Given the description of an element on the screen output the (x, y) to click on. 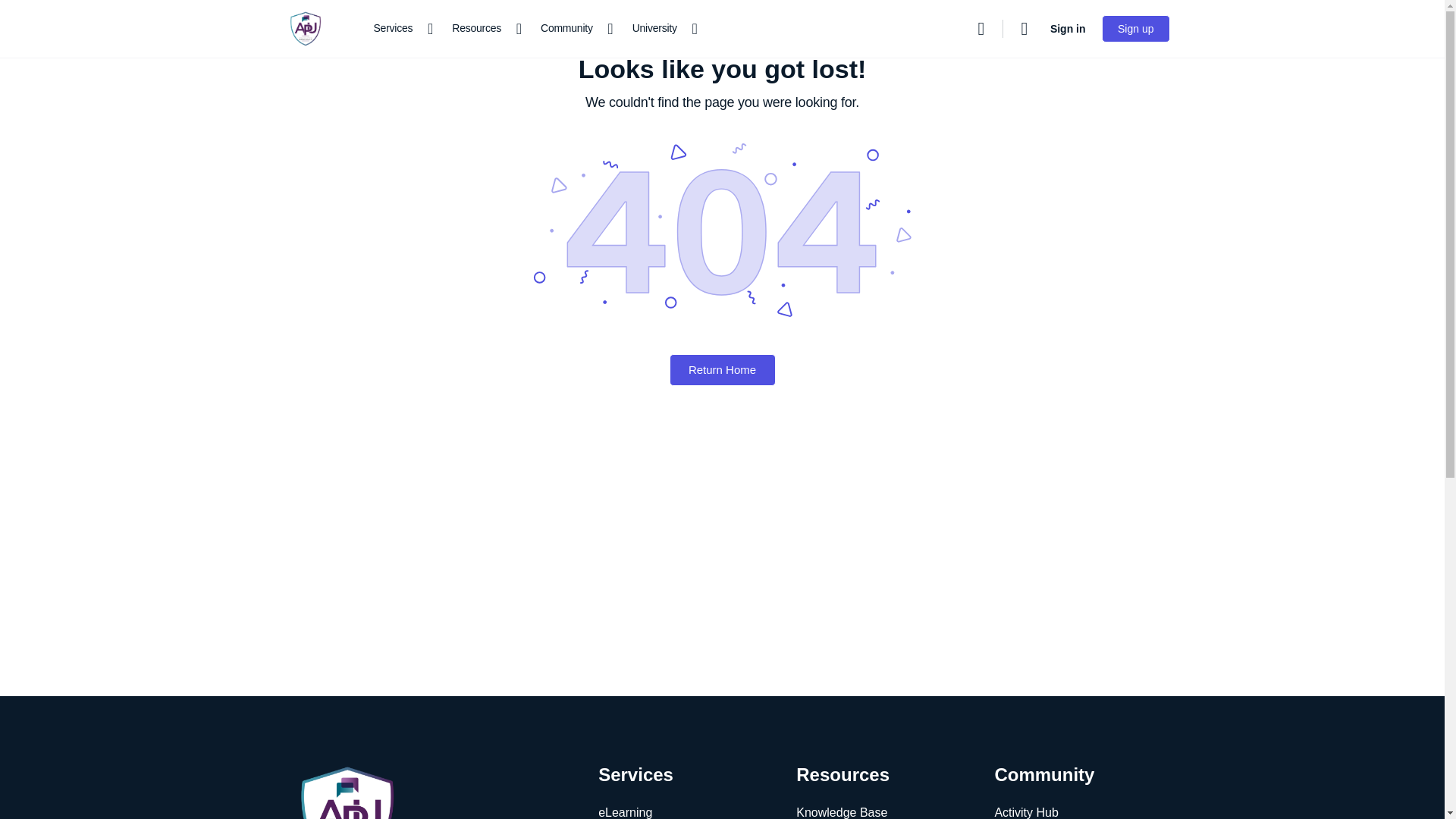
Services (398, 28)
Community (572, 28)
Return Home (721, 369)
Resources (482, 28)
Sign in (1067, 28)
Sign up (1135, 28)
University (660, 28)
